Given the description of an element on the screen output the (x, y) to click on. 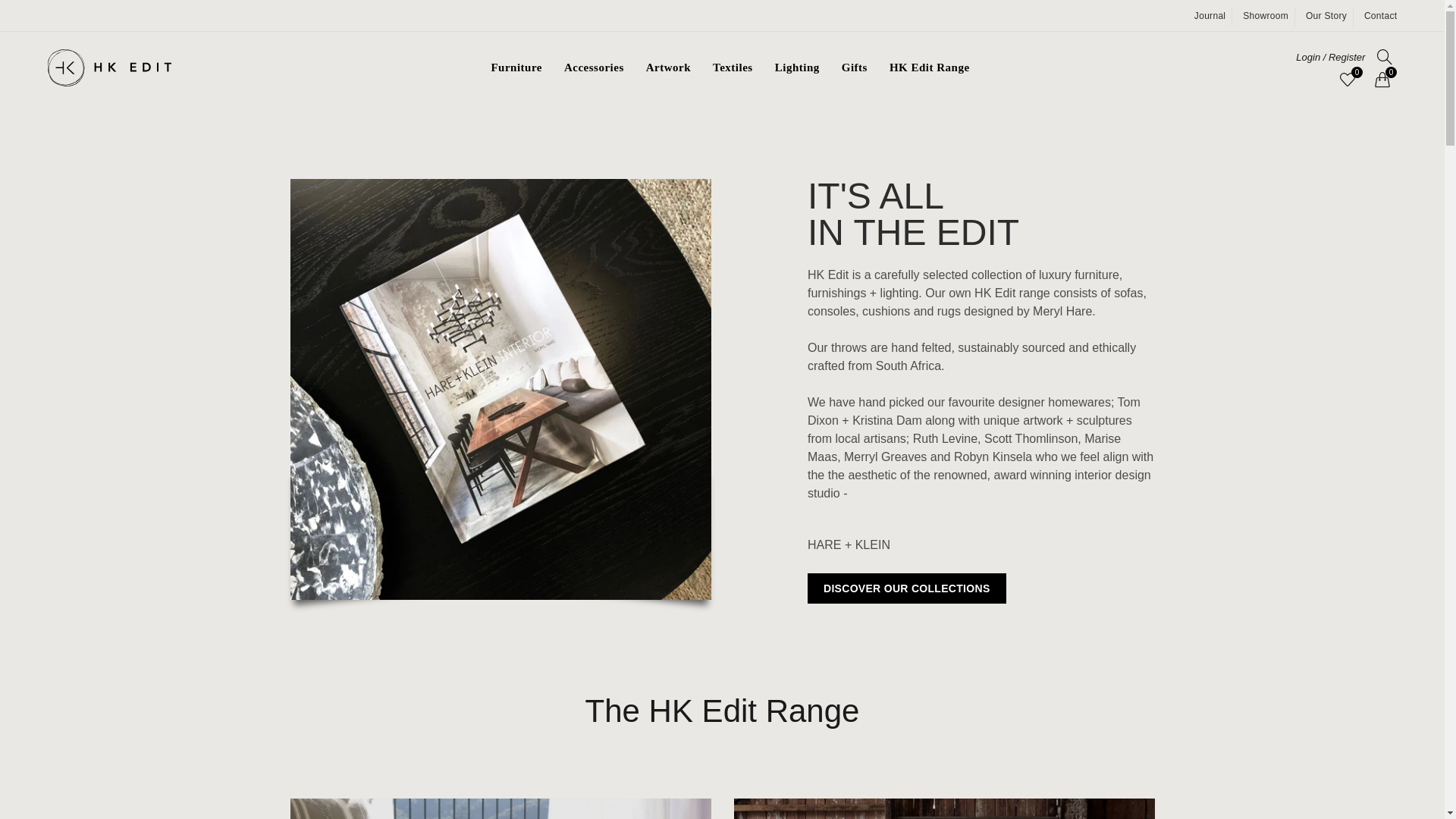
Textiles Element type: text (732, 67)
HK Edit Range Element type: text (929, 67)
Lighting Element type: text (797, 67)
Wishlist
0 Element type: text (1347, 79)
Journal Element type: text (1209, 15)
Gifts Element type: text (854, 67)
Accessories Element type: text (593, 67)
Furniture Element type: text (516, 67)
0 Element type: text (1383, 79)
Contact Element type: text (1380, 15)
Artwork Element type: text (668, 67)
Our Story Element type: text (1325, 15)
Showroom Element type: text (1265, 15)
Login / Register Element type: text (1330, 56)
DISCOVER OUR COLLECTIONS Element type: text (906, 588)
